Given the description of an element on the screen output the (x, y) to click on. 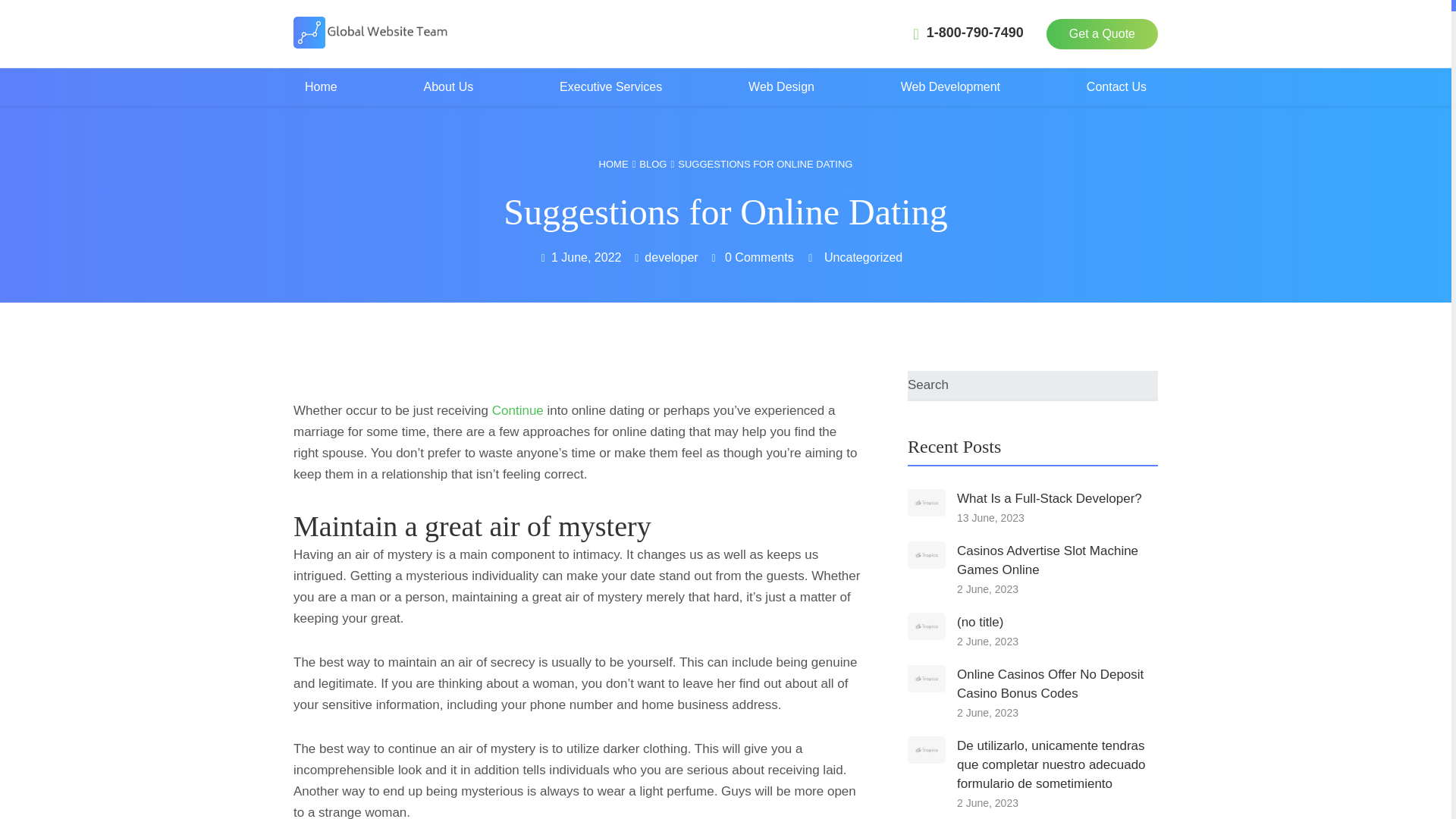
Web Development (950, 86)
Home (619, 163)
Uncategorized (863, 256)
Home (321, 86)
Get a Quote (1101, 33)
Blog (658, 163)
Web Design (780, 86)
Continue (517, 410)
BLOG (658, 163)
HOME (619, 163)
Executive Services (610, 86)
Casinos Advertise Slot Machine Games Online (1047, 560)
Contact Us (1116, 86)
About Us (448, 86)
